Given the description of an element on the screen output the (x, y) to click on. 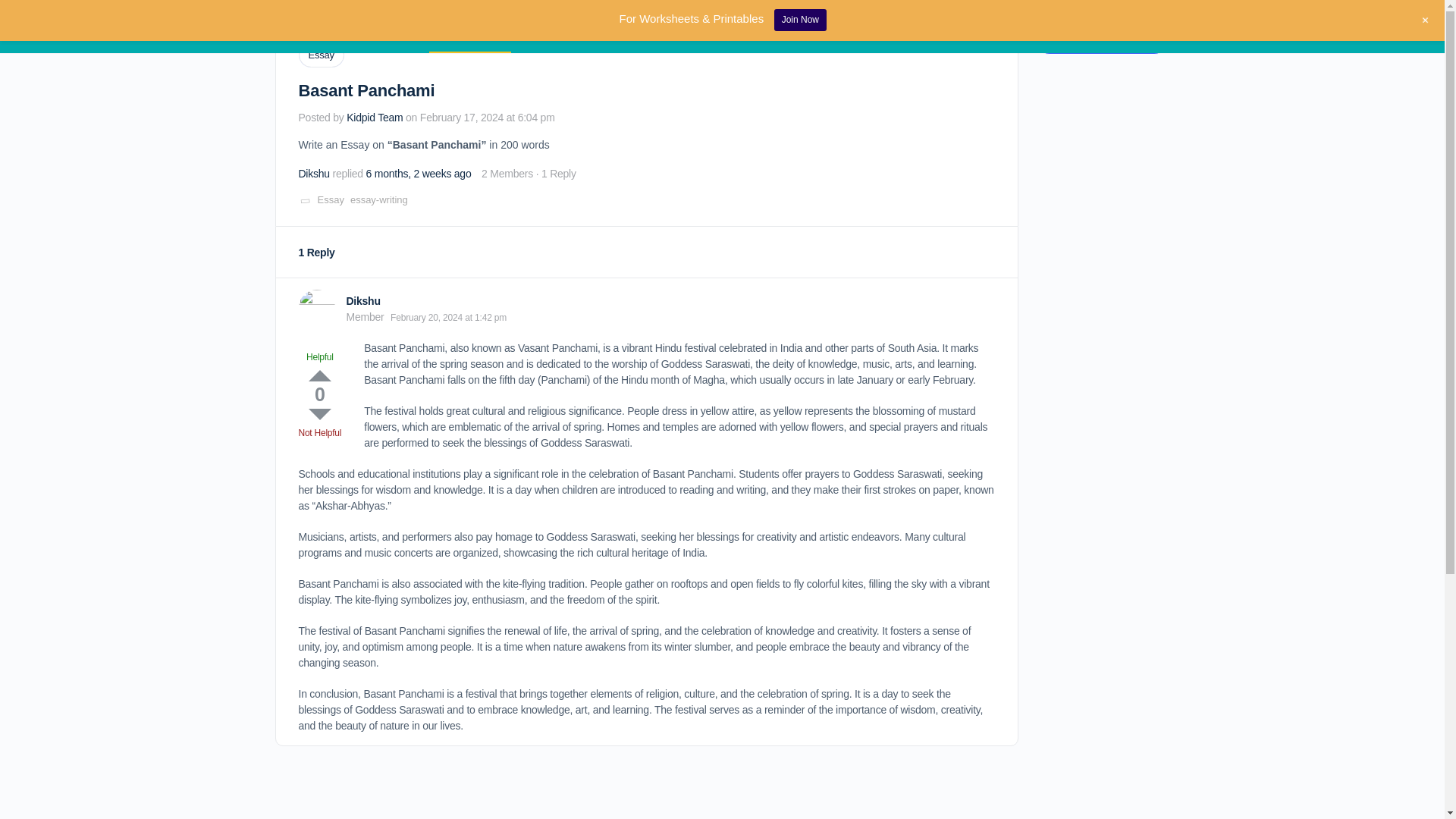
View Dikshu's profile (314, 173)
Flashcards (628, 26)
View Kidpid Team's profile (374, 117)
Reply To: Basant Panchami (418, 173)
Ask Question (470, 26)
View Dikshu's profile (363, 300)
Books (550, 26)
View Dikshu's profile (316, 307)
Worksheets (720, 26)
Sign in (1143, 26)
